Given the description of an element on the screen output the (x, y) to click on. 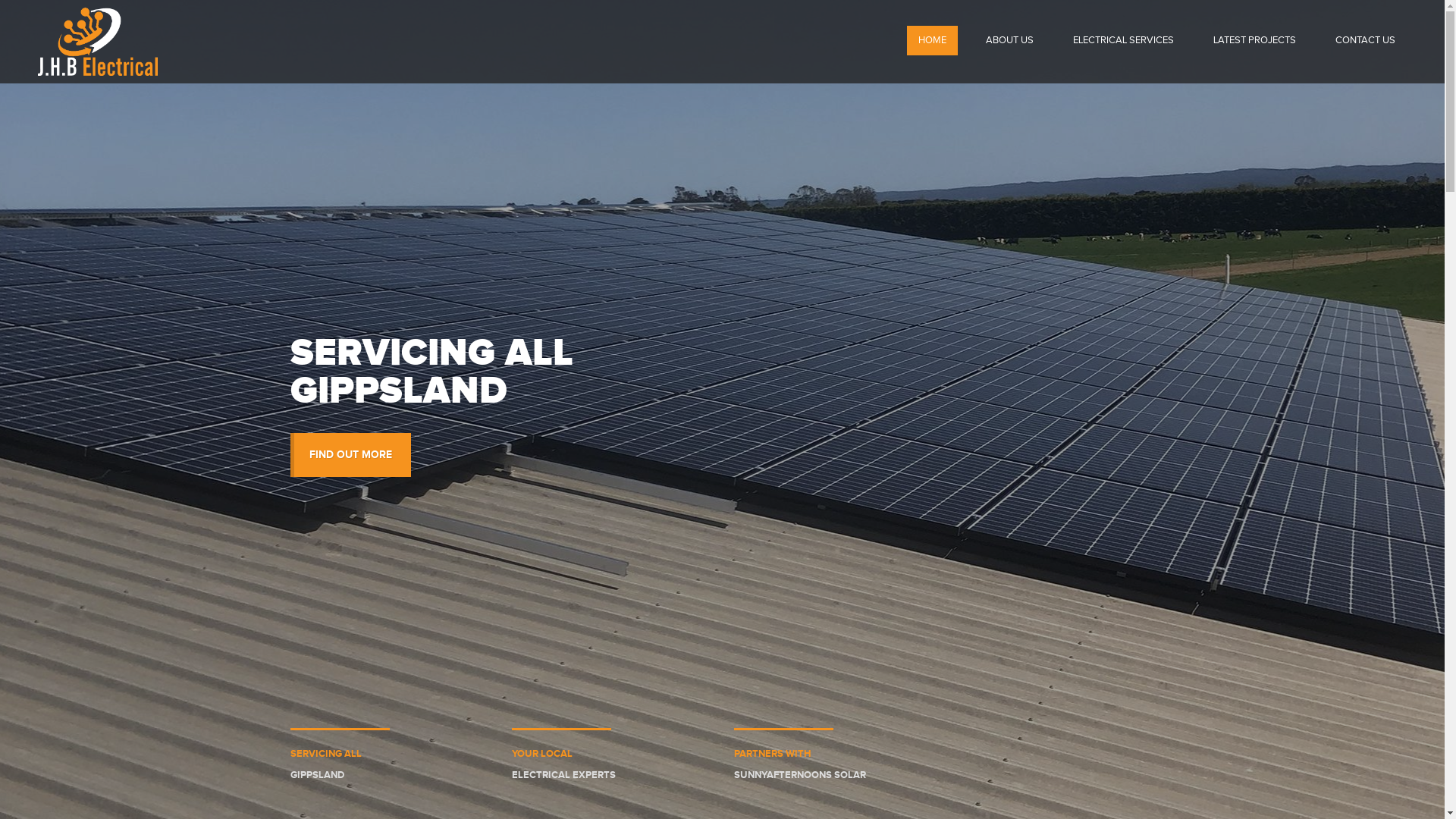
FIND OUT MORE Element type: text (349, 454)
ELECTRICAL SERVICES Element type: text (1123, 40)
HOME Element type: text (931, 40)
LATEST PROJECTS Element type: text (1254, 40)
ABOUT US Element type: text (1009, 40)
CONTACT US Element type: text (1365, 40)
